Given the description of an element on the screen output the (x, y) to click on. 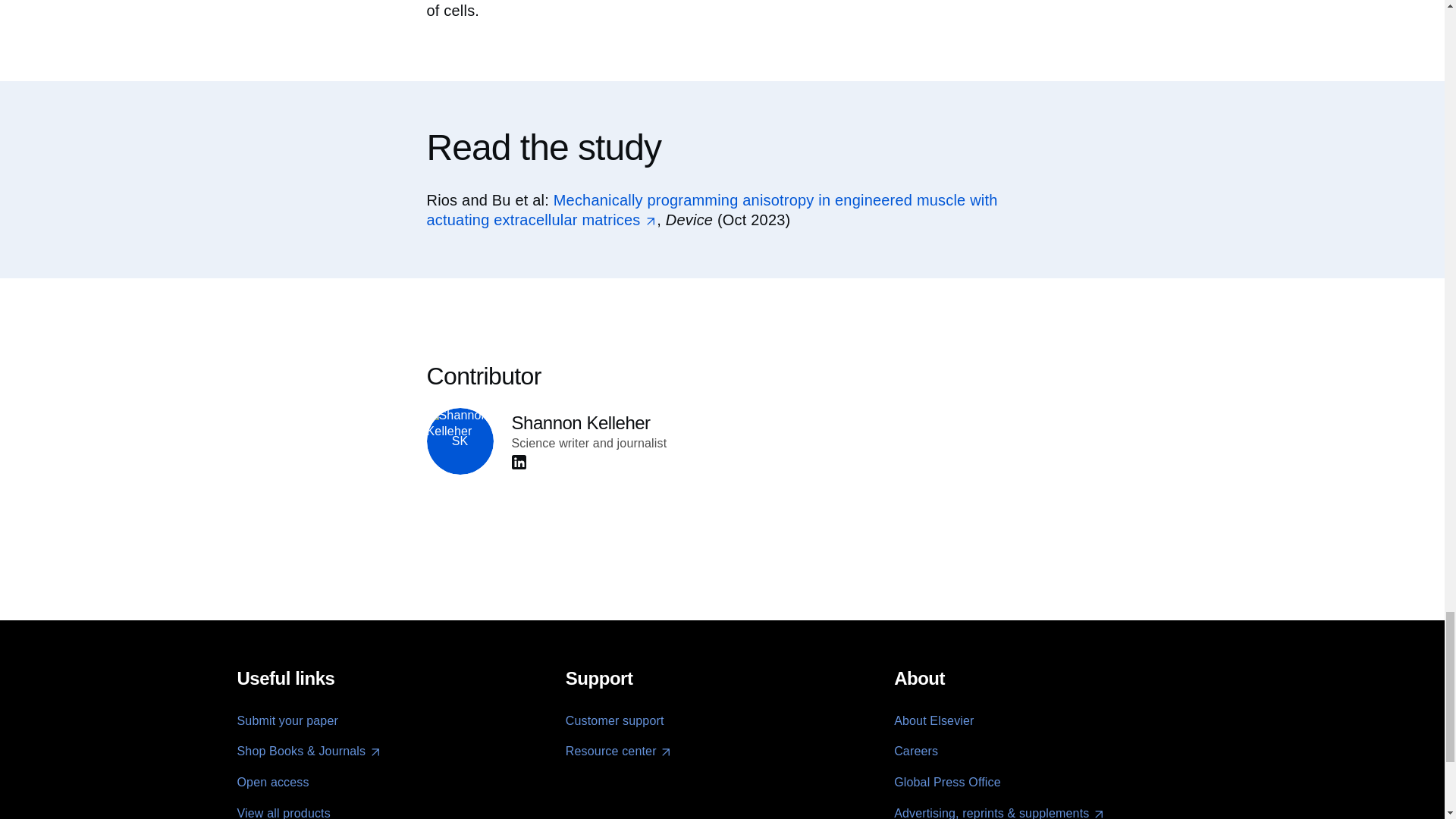
Careers (915, 750)
Resource center (618, 751)
View all products (282, 812)
Open access (271, 781)
Global Press Office (947, 781)
About Elsevier (933, 720)
Customer support (614, 720)
Submit your paper (286, 720)
